Given the description of an element on the screen output the (x, y) to click on. 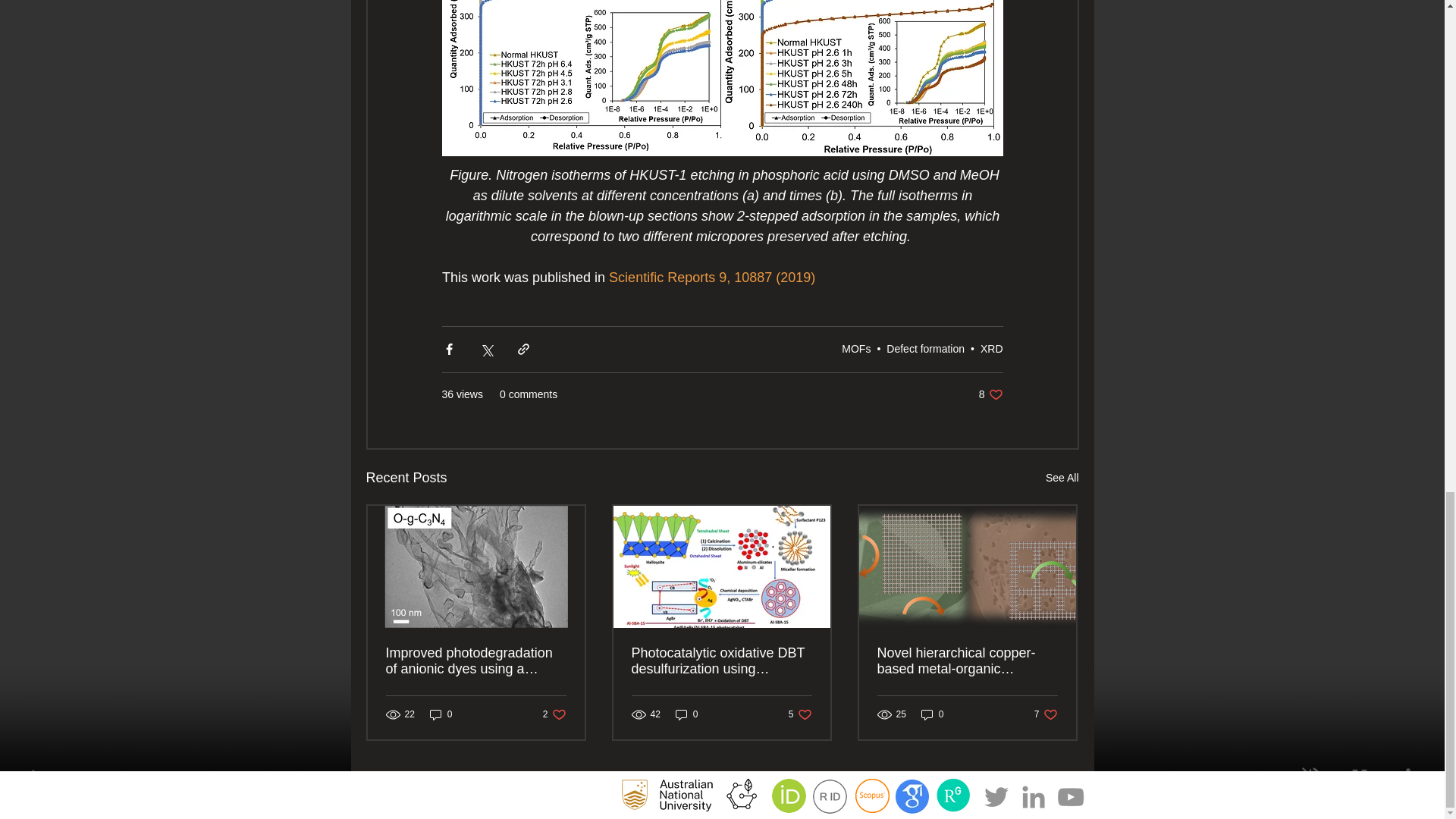
MOFs (855, 348)
XRD (991, 348)
See All (1061, 477)
Defect formation (990, 394)
